Given the description of an element on the screen output the (x, y) to click on. 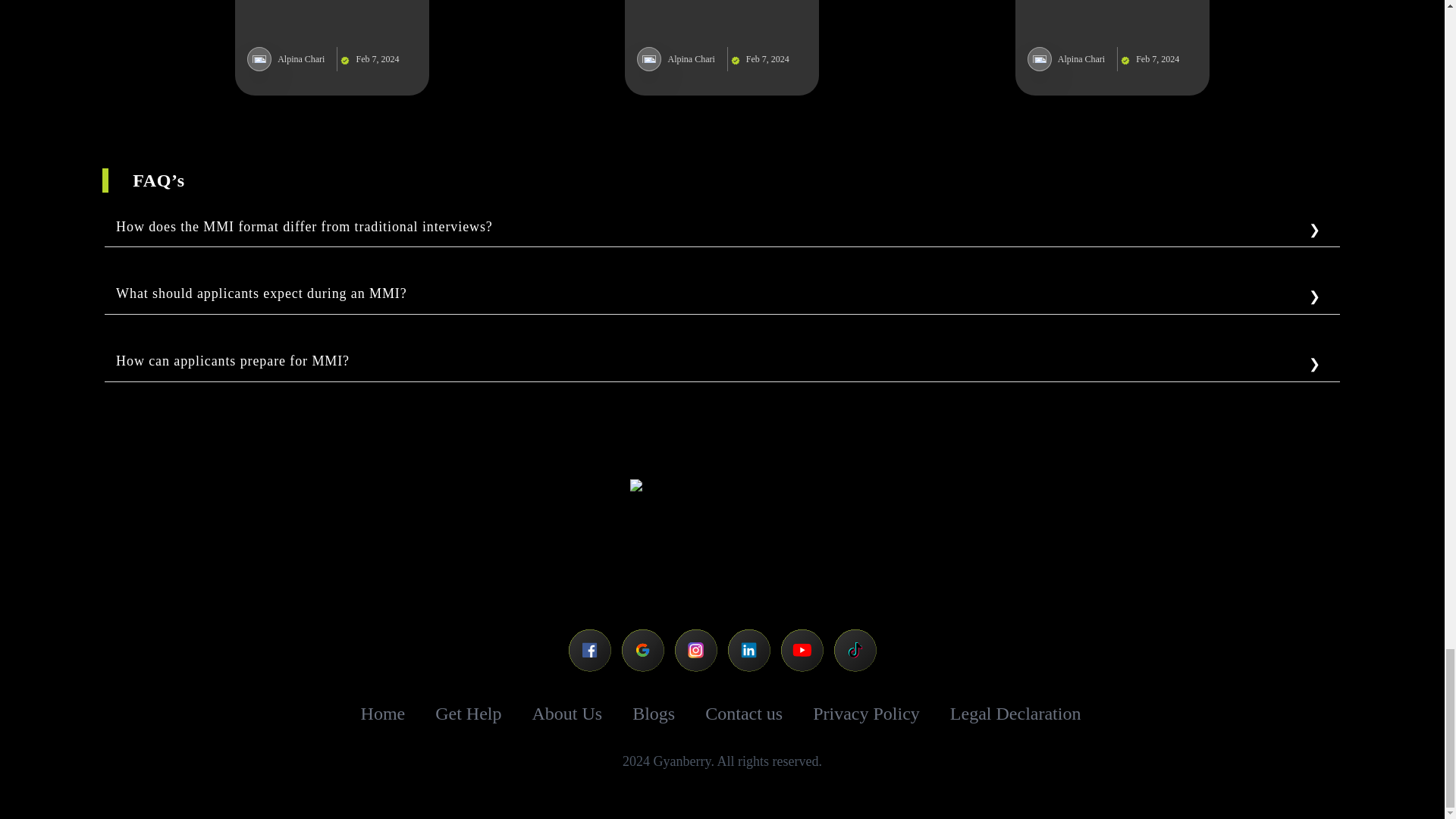
About Us (567, 713)
Privacy Policy (866, 713)
Blogs (653, 713)
Contact us (743, 713)
Home (383, 713)
Get Help (467, 713)
